Given the description of an element on the screen output the (x, y) to click on. 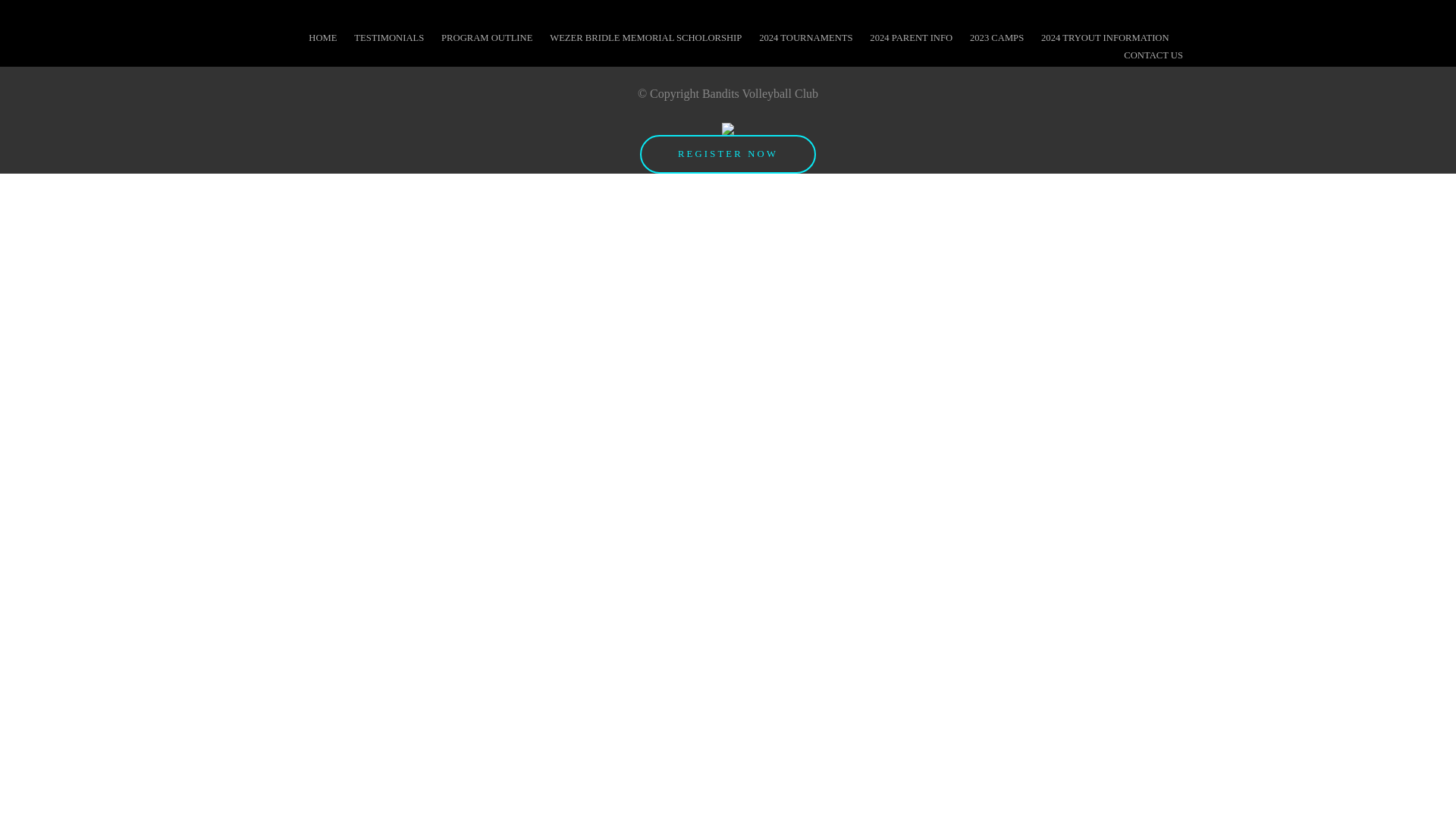
CONTACT US Element type: text (1153, 55)
TESTIMONIALS Element type: text (388, 37)
PROGRAM OUTLINE Element type: text (486, 37)
2024 TRYOUT INFORMATION Element type: text (1105, 37)
WEZER BRIDLE MEMORIAL SCHOLORSHIP Element type: text (645, 37)
2024 PARENT INFO Element type: text (910, 37)
REGISTER NOW Element type: text (727, 153)
HOME Element type: text (322, 37)
2023 CAMPS Element type: text (996, 37)
2024 TOURNAMENTS Element type: text (805, 37)
